Given the description of an element on the screen output the (x, y) to click on. 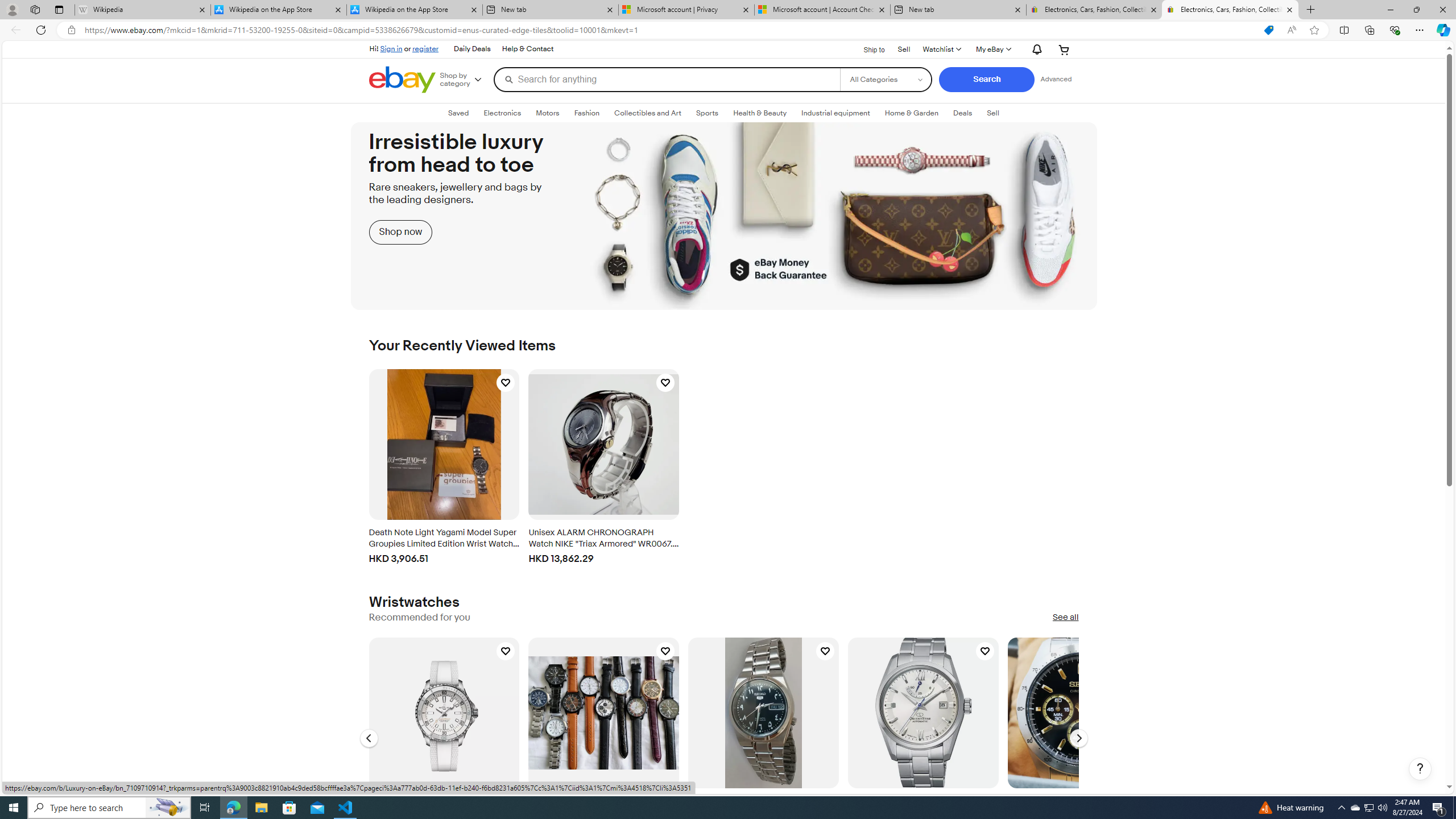
Electronics (502, 112)
Home & GardenExpand: Home & Garden (911, 112)
Search for anything (666, 78)
See all (1065, 617)
Industrial equipmentExpand: Industrial equipment (835, 112)
